Given the description of an element on the screen output the (x, y) to click on. 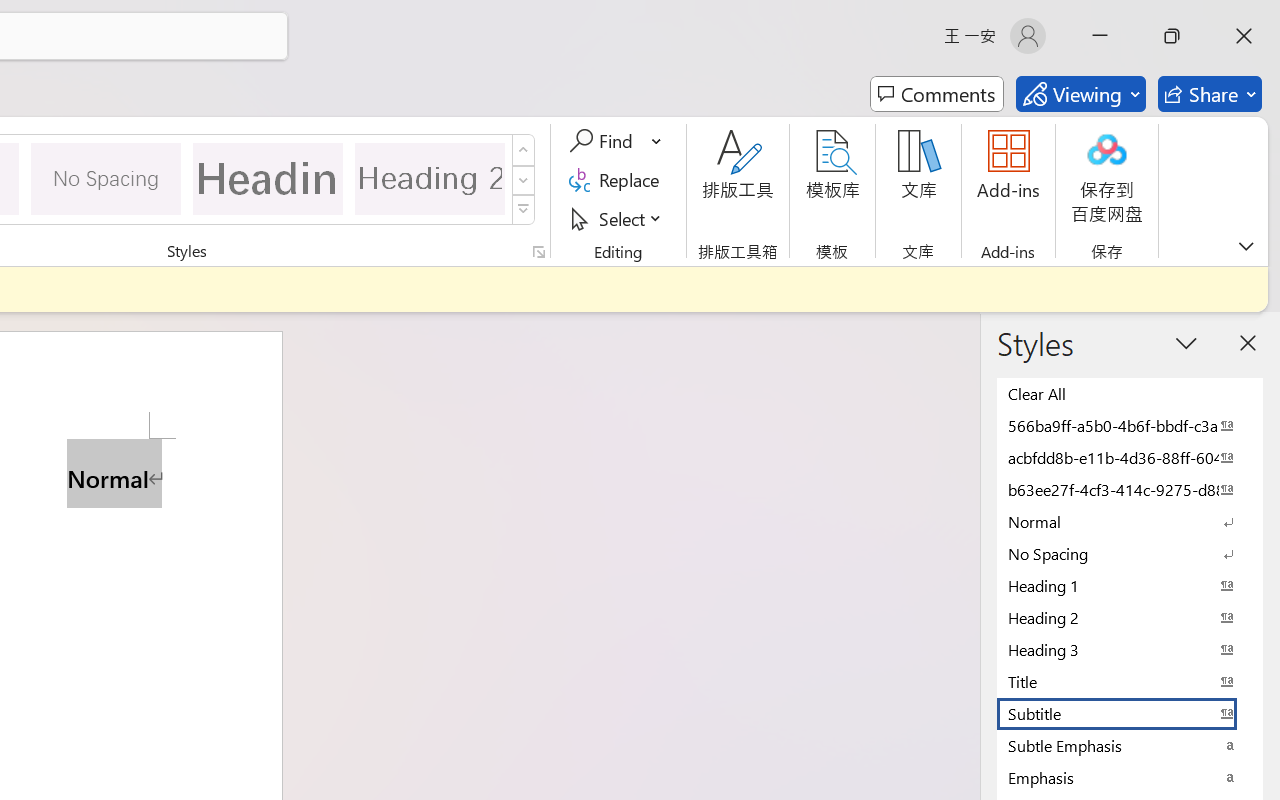
Emphasis (1130, 777)
Styles... (538, 252)
b63ee27f-4cf3-414c-9275-d88e3f90795e (1130, 489)
No Spacing (1130, 553)
